Given the description of an element on the screen output the (x, y) to click on. 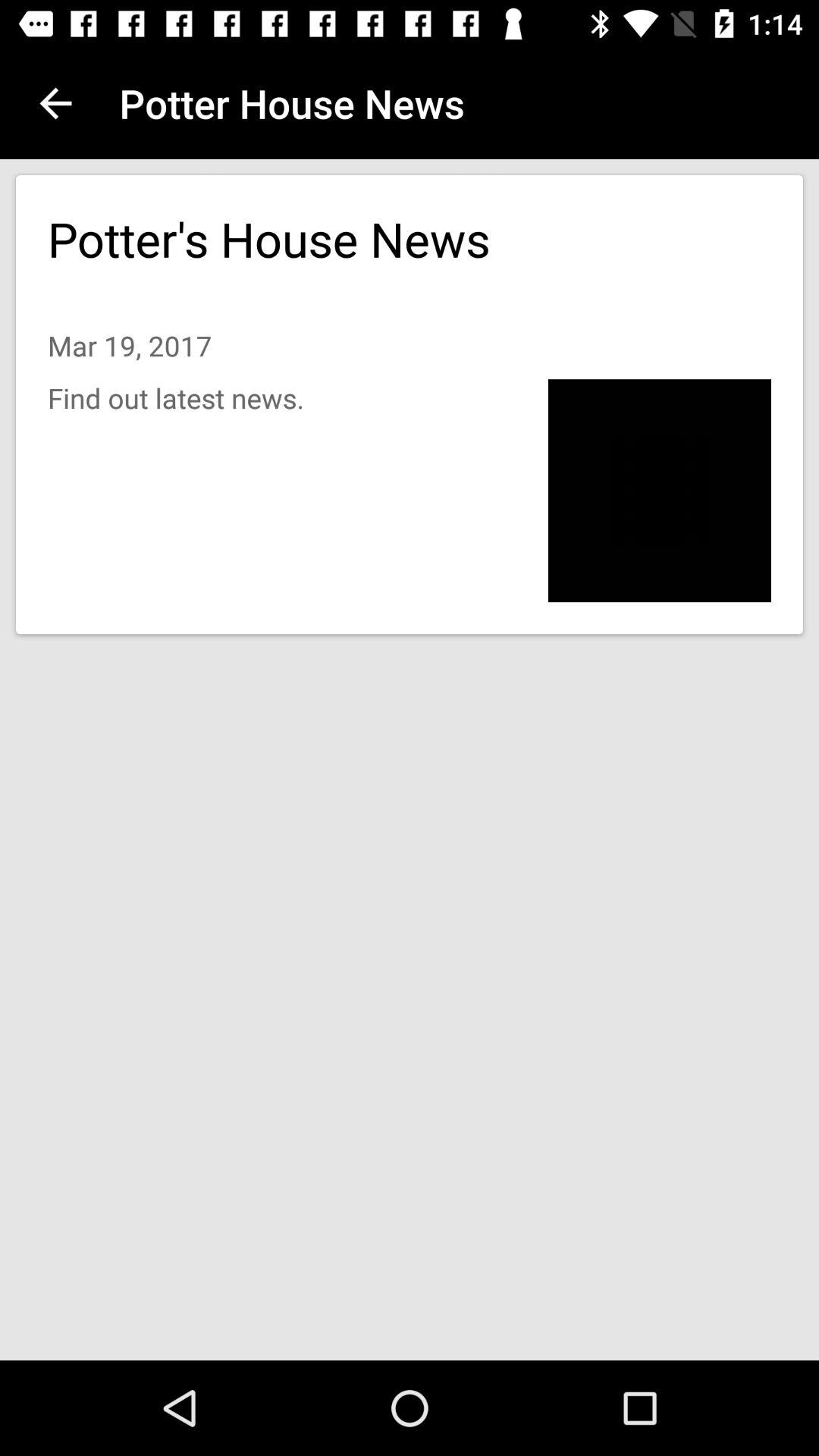
open app to the left of potter house news icon (55, 103)
